Given the description of an element on the screen output the (x, y) to click on. 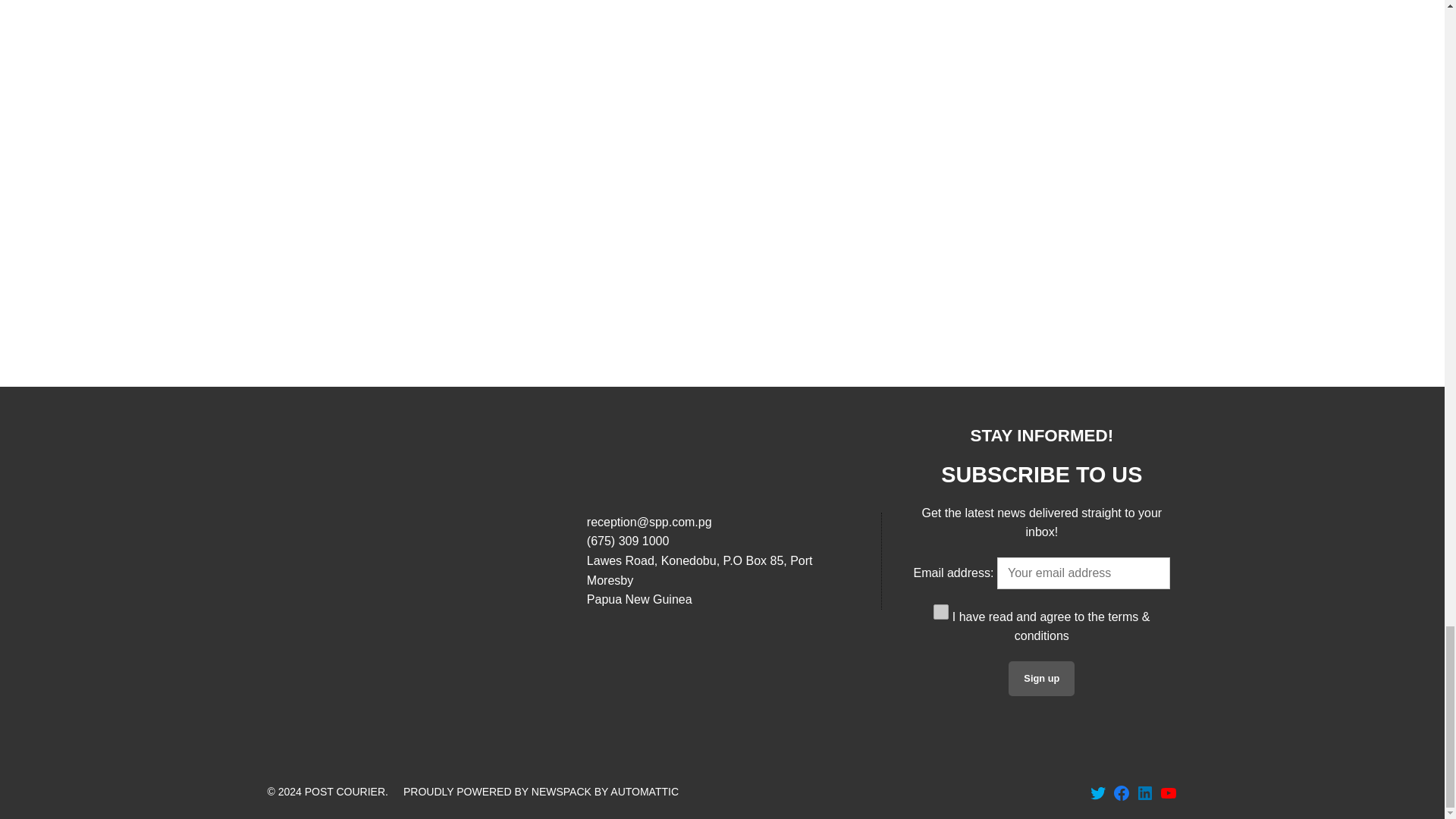
VideoPress Video Player (1040, 146)
1 (941, 611)
Open address in Google Maps (721, 580)
Sign up (1041, 678)
